Given the description of an element on the screen output the (x, y) to click on. 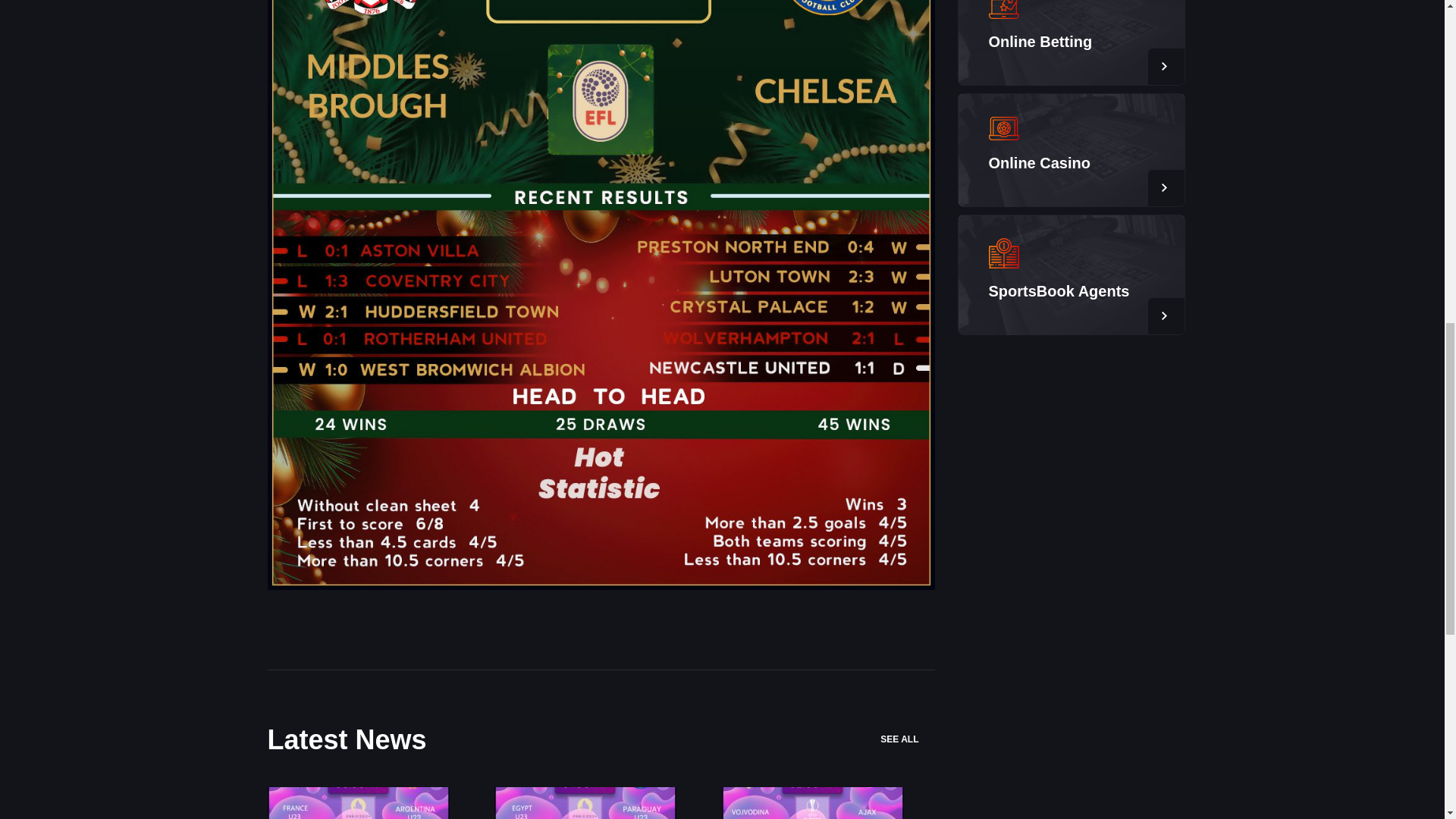
Online Casino (1039, 162)
Online Betting (1040, 41)
SEE ALL (907, 739)
SportsBook Agents (1058, 290)
